Given the description of an element on the screen output the (x, y) to click on. 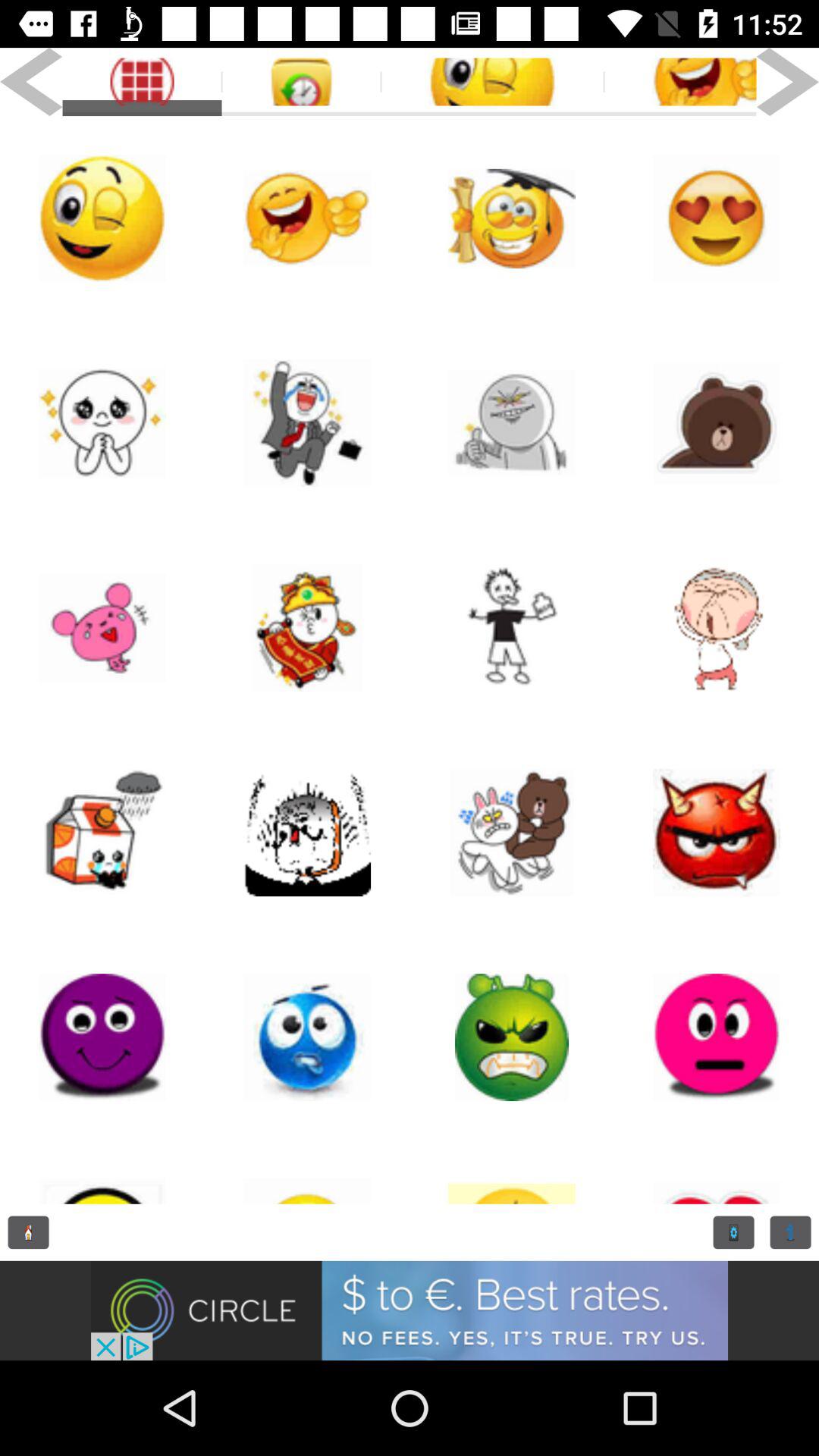
icon page (306, 627)
